Given the description of an element on the screen output the (x, y) to click on. 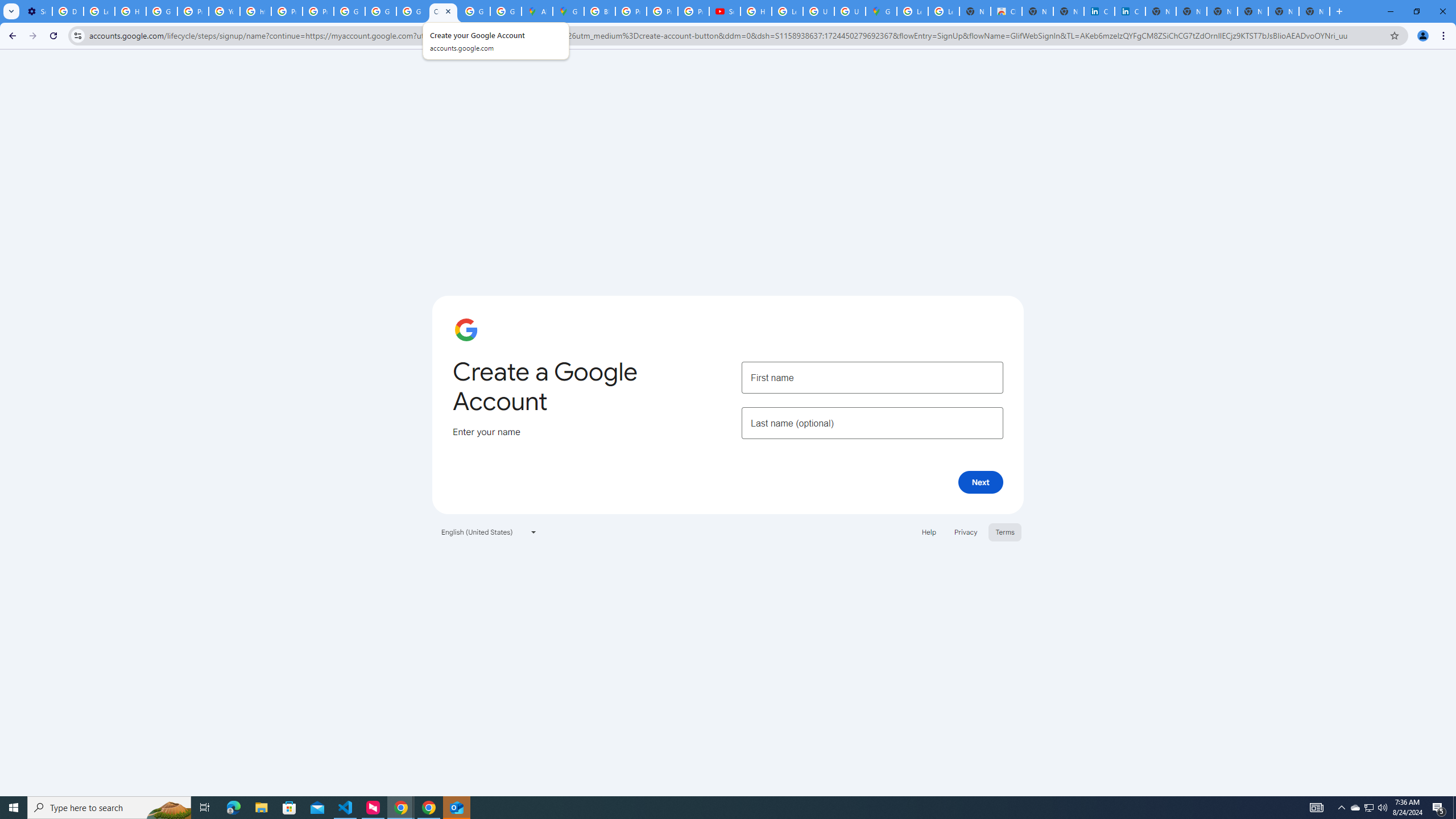
Blogger Policies and Guidelines - Transparency Center (599, 11)
First name (871, 376)
Subscriptions - YouTube (724, 11)
